Given the description of an element on the screen output the (x, y) to click on. 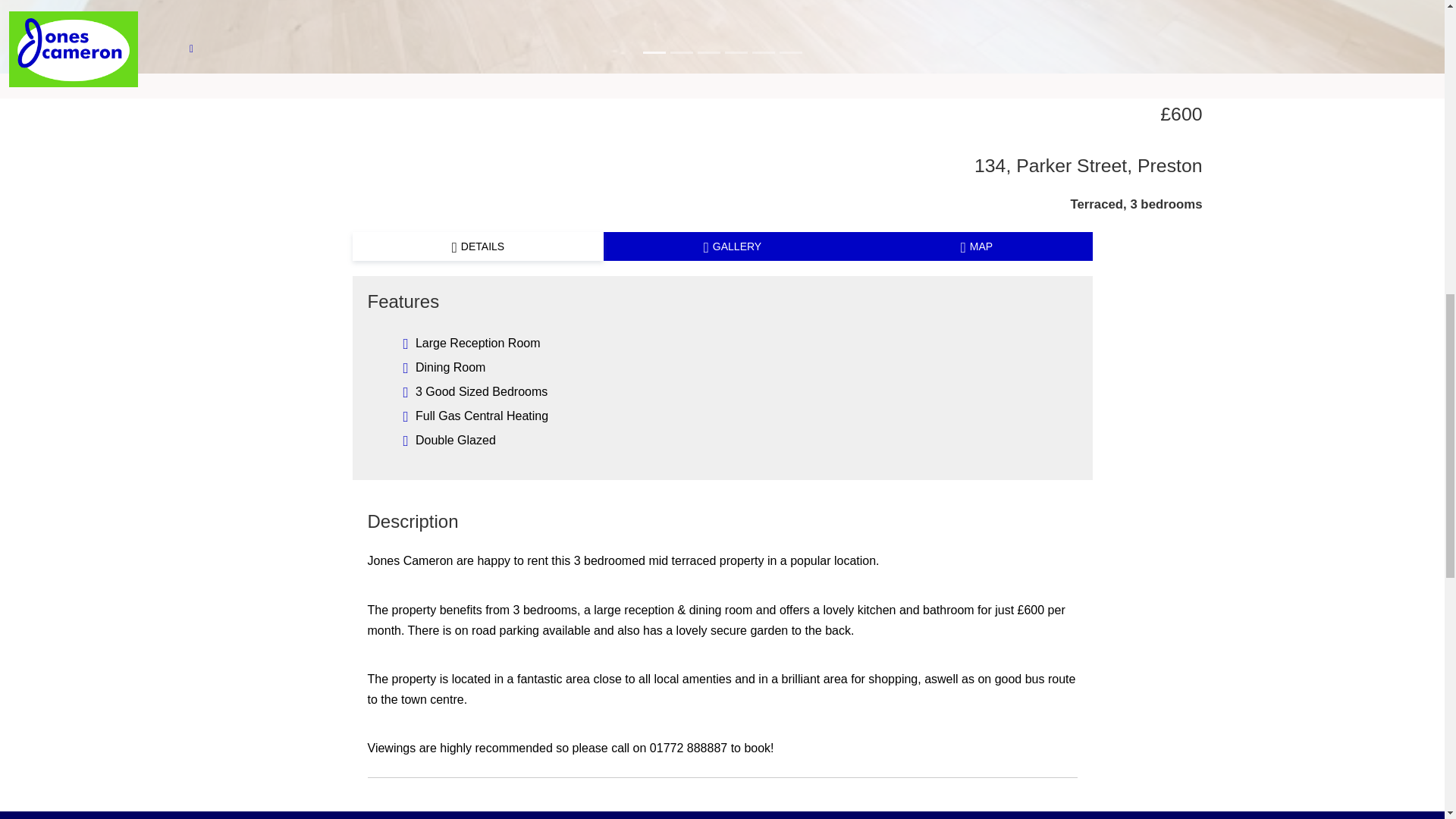
DETAILS (478, 246)
GALLERY (732, 246)
Previous (108, 36)
MAP (976, 246)
